Given the description of an element on the screen output the (x, y) to click on. 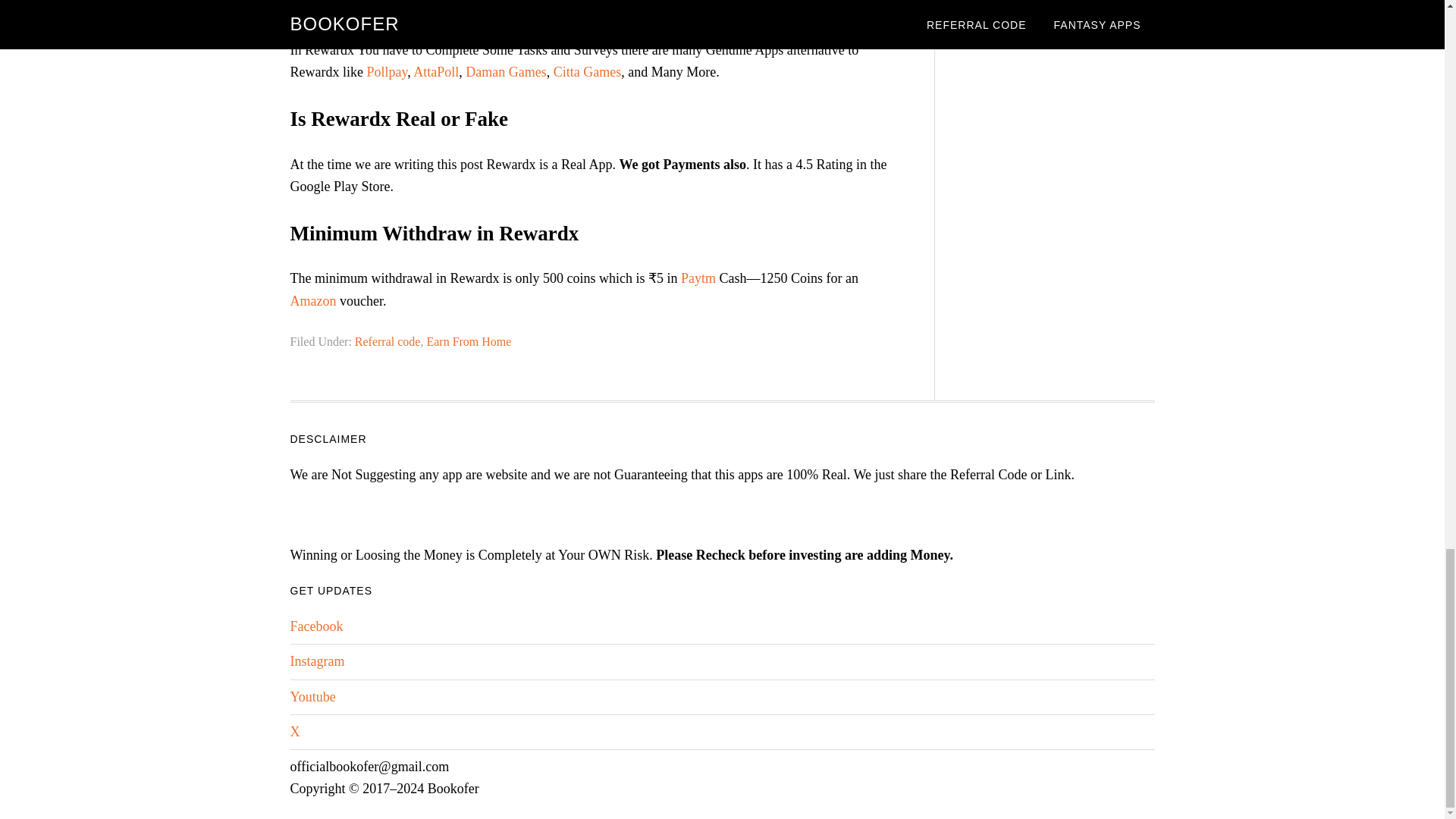
Paytm (698, 278)
Amazon (312, 300)
AttaPoll (435, 71)
Referral code (387, 341)
Citta Games (587, 71)
Earn From Home (468, 341)
Pollpay (386, 71)
Daman Games (505, 71)
